Given the description of an element on the screen output the (x, y) to click on. 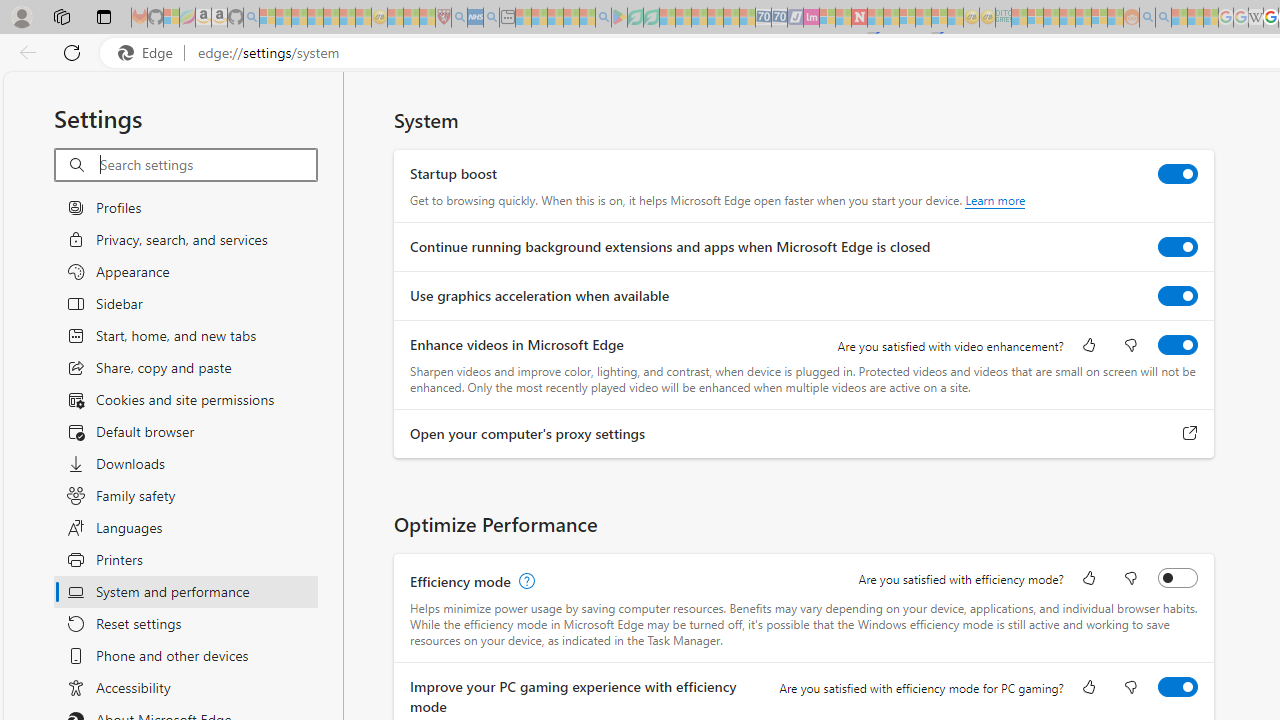
Edge (150, 53)
Improve your PC gaming experience with efficiency mode (1178, 686)
Jobs - lastminute.com Investor Portal - Sleeping (811, 17)
